Given the description of an element on the screen output the (x, y) to click on. 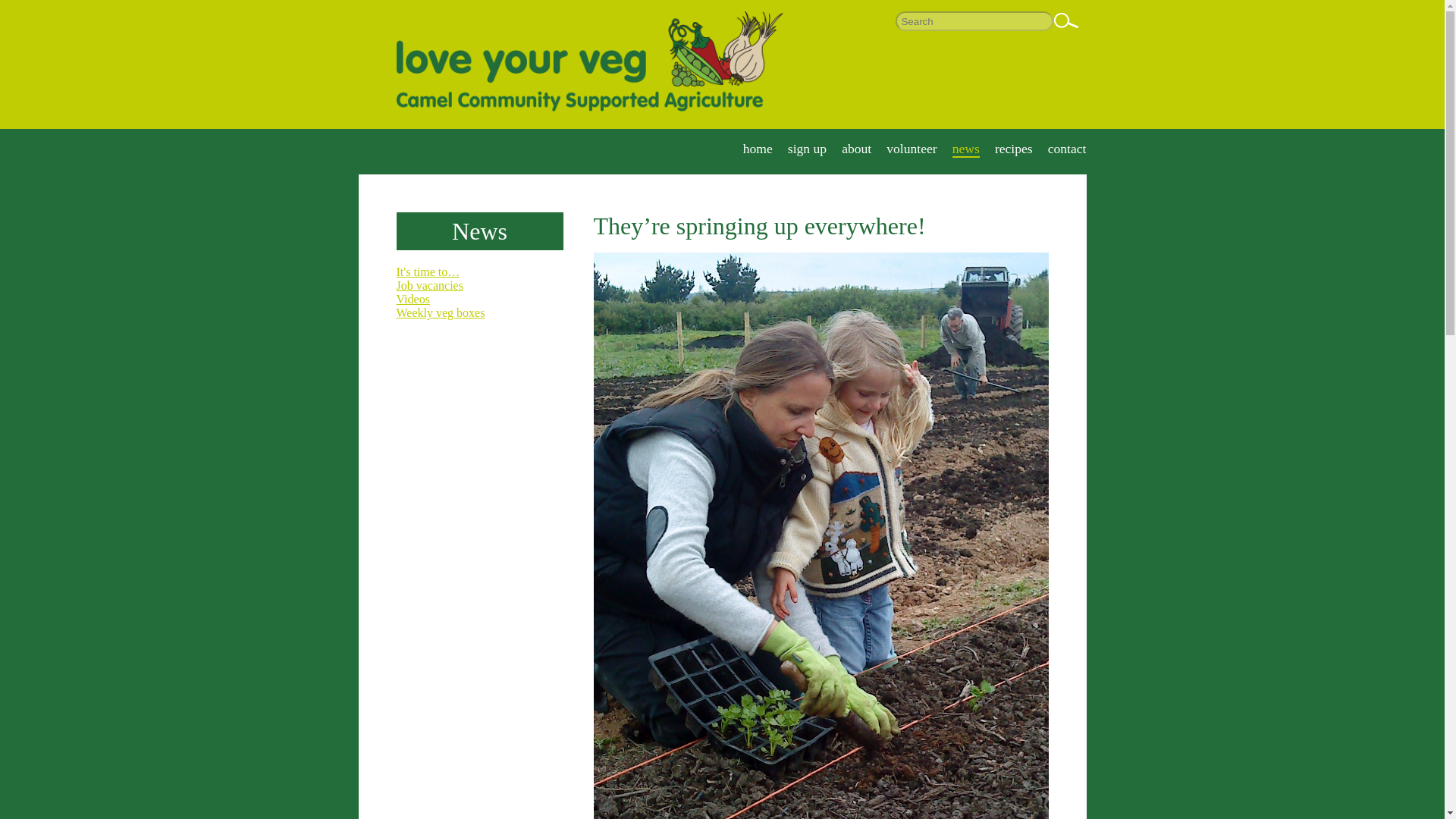
home (757, 148)
contact (1067, 148)
volunteer (911, 148)
recipes (1013, 148)
Job vacancies (429, 285)
sign up (807, 148)
about (855, 148)
News (478, 230)
Weekly veg boxes (440, 312)
Videos (412, 298)
news (965, 149)
